Given the description of an element on the screen output the (x, y) to click on. 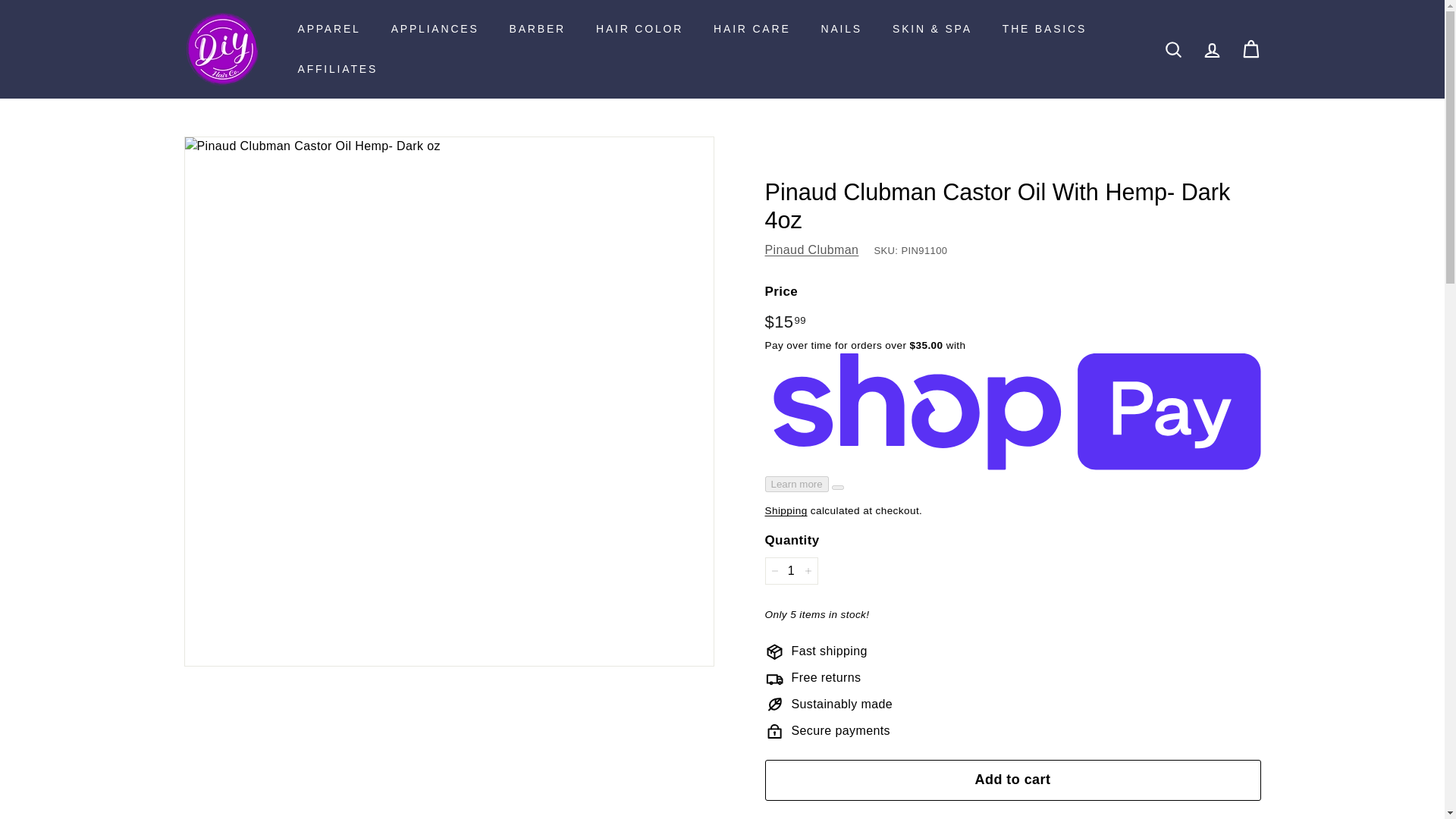
APPLIANCES (435, 29)
Pinaud Clubman (811, 249)
APPAREL (328, 29)
1 (790, 570)
